Given the description of an element on the screen output the (x, y) to click on. 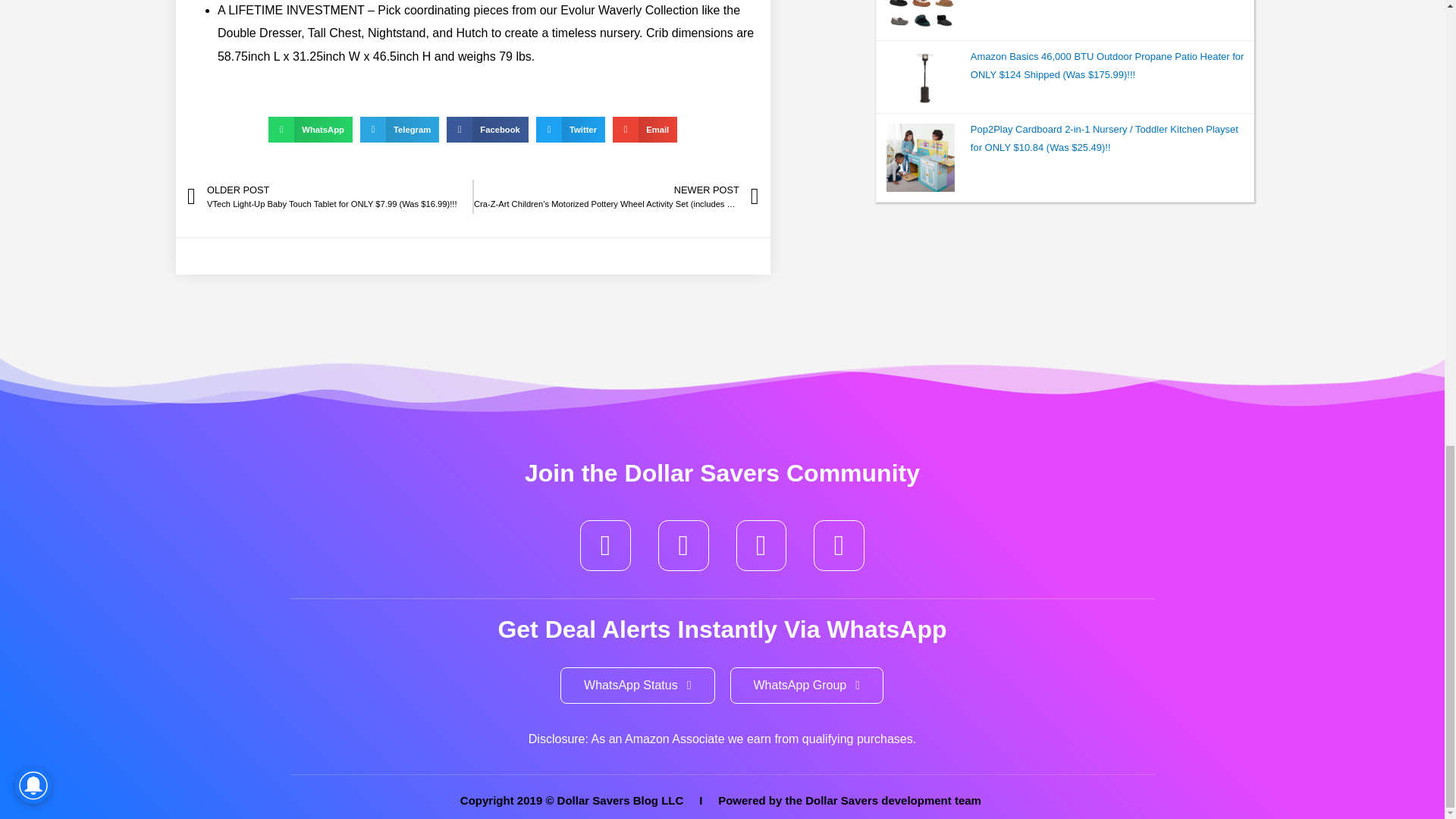
WhatsApp Status (637, 685)
